Given the description of an element on the screen output the (x, y) to click on. 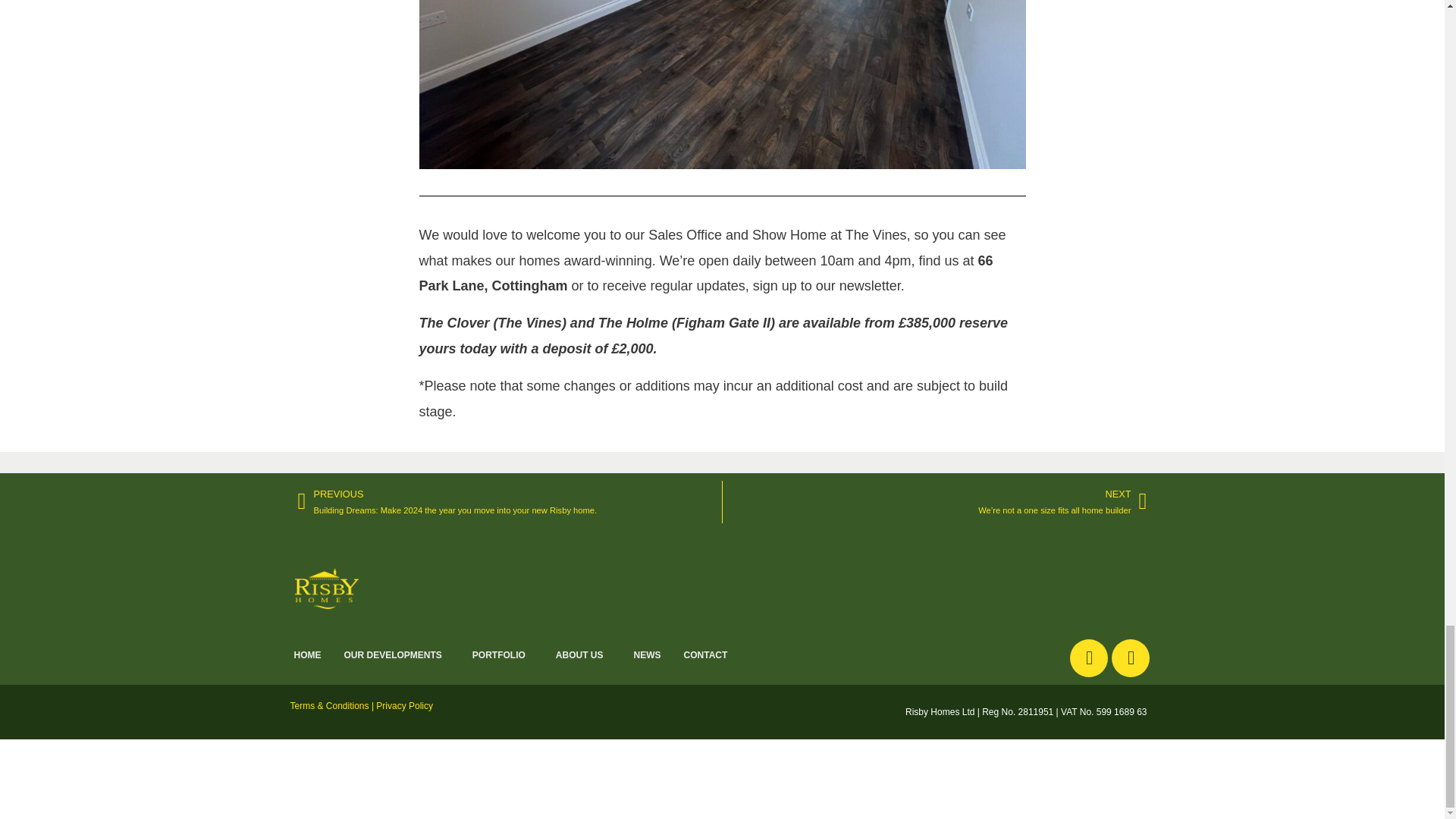
HOME (306, 654)
OUR DEVELOPMENTS (395, 654)
